Given the description of an element on the screen output the (x, y) to click on. 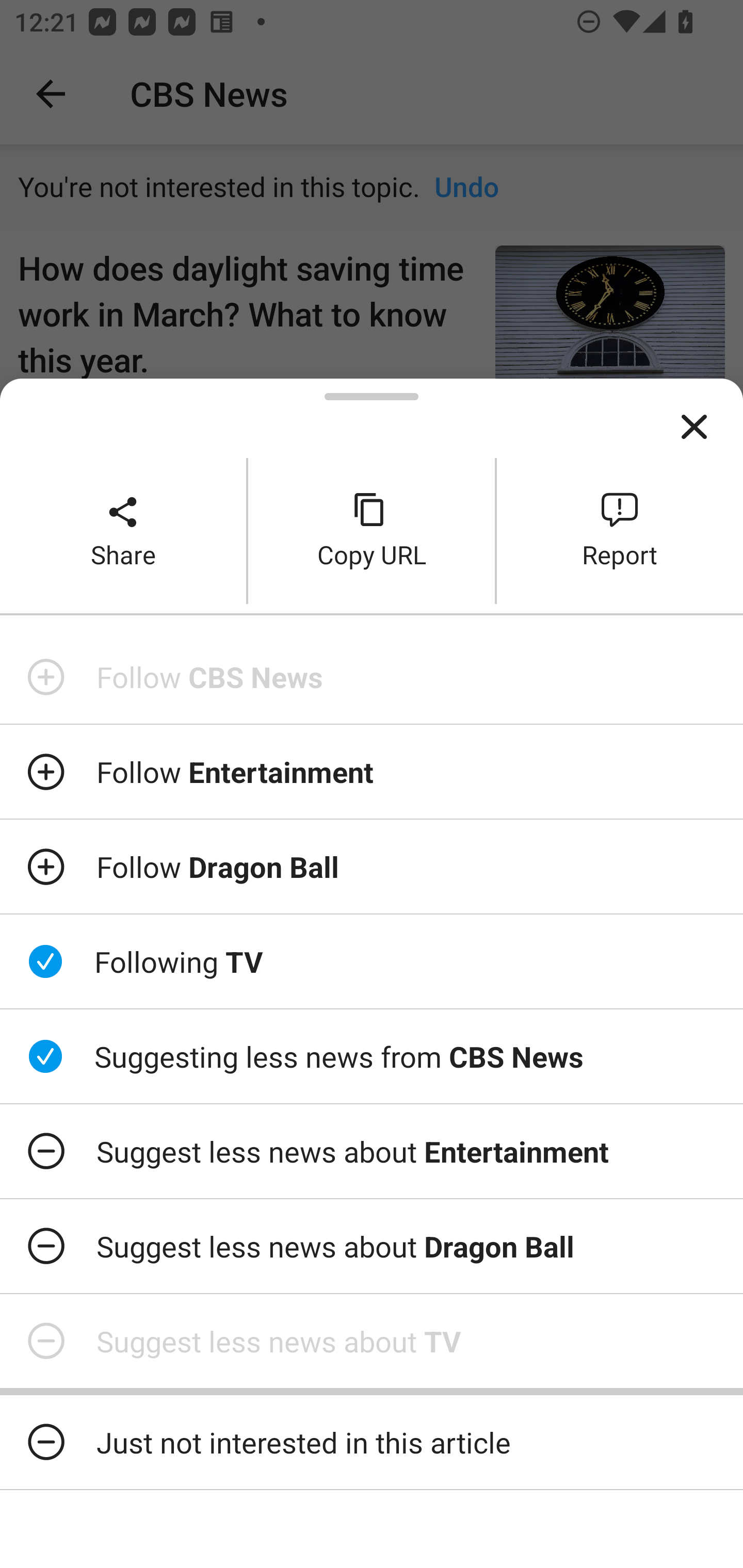
Close (694, 426)
Share (122, 530)
Copy URL (371, 530)
Report (620, 530)
Follow Entertainment (371, 771)
Follow Dragon Ball  (371, 867)
Following TV (371, 961)
Suggesting less news from CBS News (371, 1056)
Suggest less news about Entertainment (371, 1150)
Suggest less news about Dragon Ball  (371, 1246)
Just not interested in this article (371, 1442)
